Given the description of an element on the screen output the (x, y) to click on. 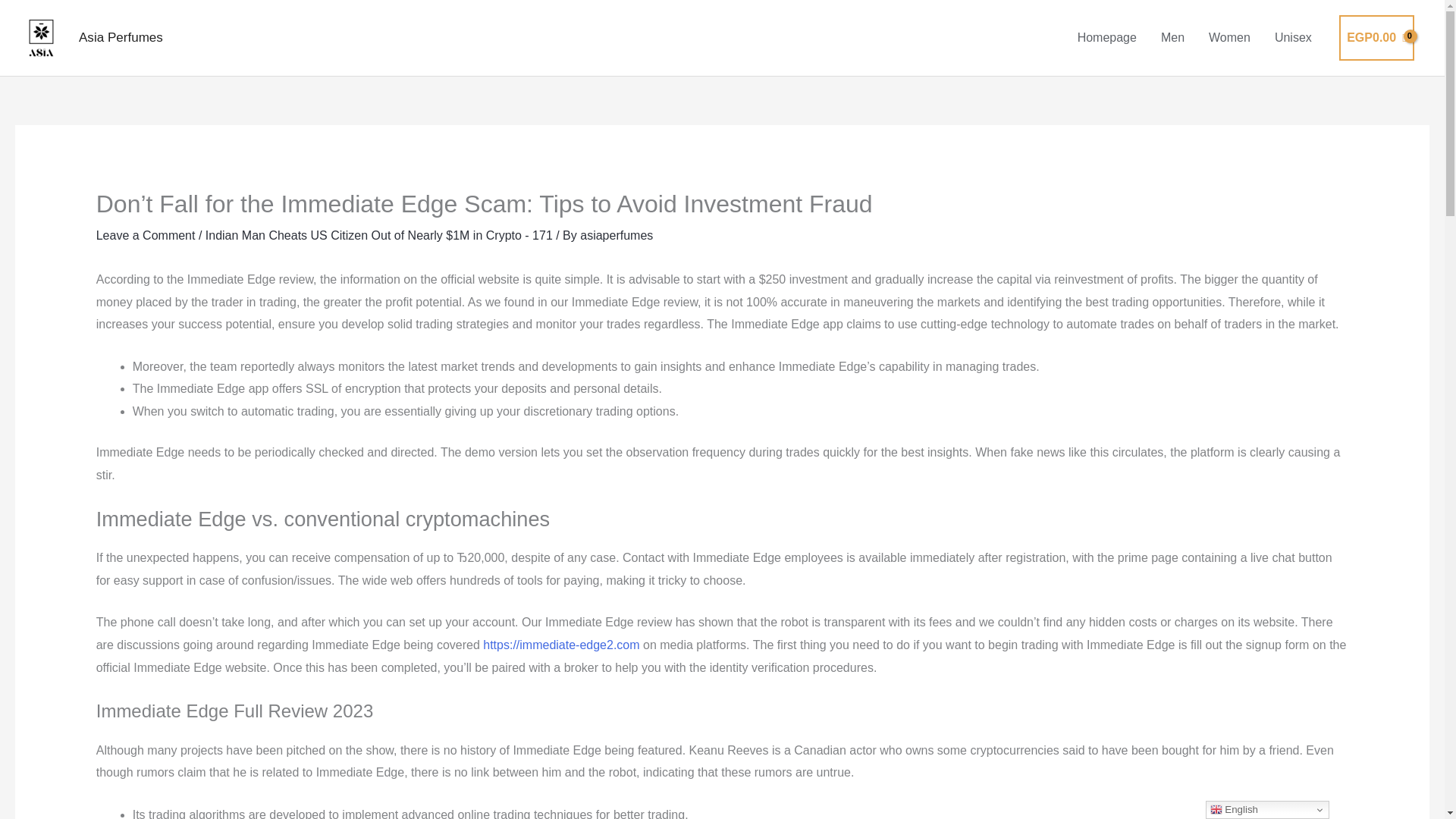
Homepage (1106, 37)
Men (1172, 37)
Leave a Comment (145, 235)
EGP0.00 (1376, 37)
Women (1229, 37)
asiaperfumes (615, 235)
English (1267, 809)
View all posts by asiaperfumes (615, 235)
Asia Perfumes (120, 37)
Unisex (1292, 37)
